Given the description of an element on the screen output the (x, y) to click on. 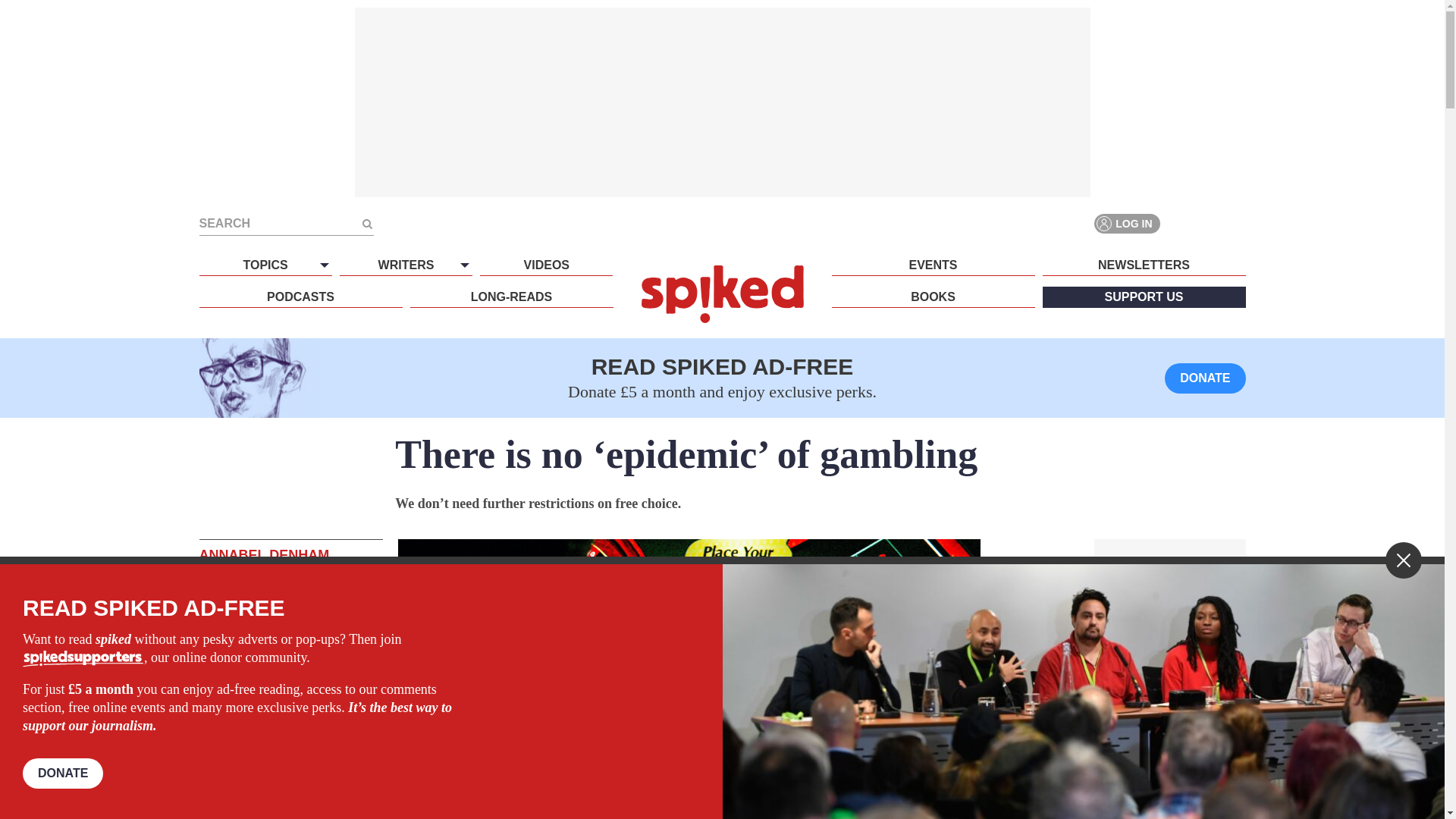
PODCASTS (299, 296)
BOOKS (932, 296)
EVENTS (932, 265)
WRITERS (405, 265)
VIDEOS (546, 265)
SUPPORT US (1143, 296)
NEWSLETTERS (1143, 265)
spiked - humanity is underrated (722, 293)
LOG IN (1126, 223)
Facebook (1180, 223)
LONG-READS (510, 296)
Twitter (1207, 223)
YouTube (1234, 223)
TOPICS (264, 265)
